Given the description of an element on the screen output the (x, y) to click on. 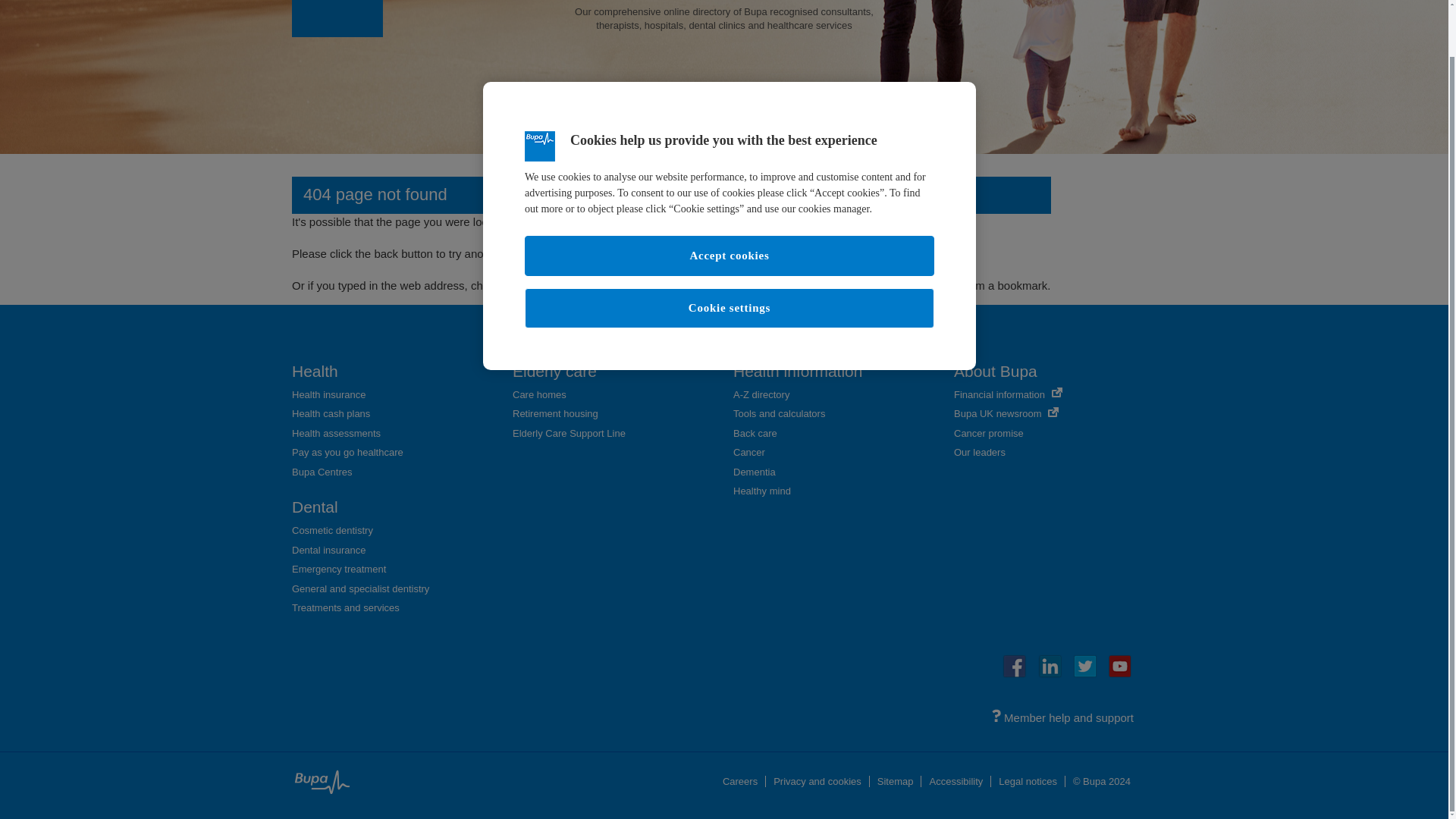
A-Z directory (761, 394)
Back care (755, 432)
Cancer promise (988, 432)
Elderly care (554, 371)
Dementia (754, 471)
Emergency treatment (338, 568)
Retirement housing (555, 413)
Pay as you go healthcare (347, 451)
Health (314, 371)
Health insurance (329, 394)
Health assessments (336, 432)
Health information (797, 371)
Bupa UK newsroom (1005, 413)
Cancer (749, 451)
General and specialist dentistry (360, 588)
